Given the description of an element on the screen output the (x, y) to click on. 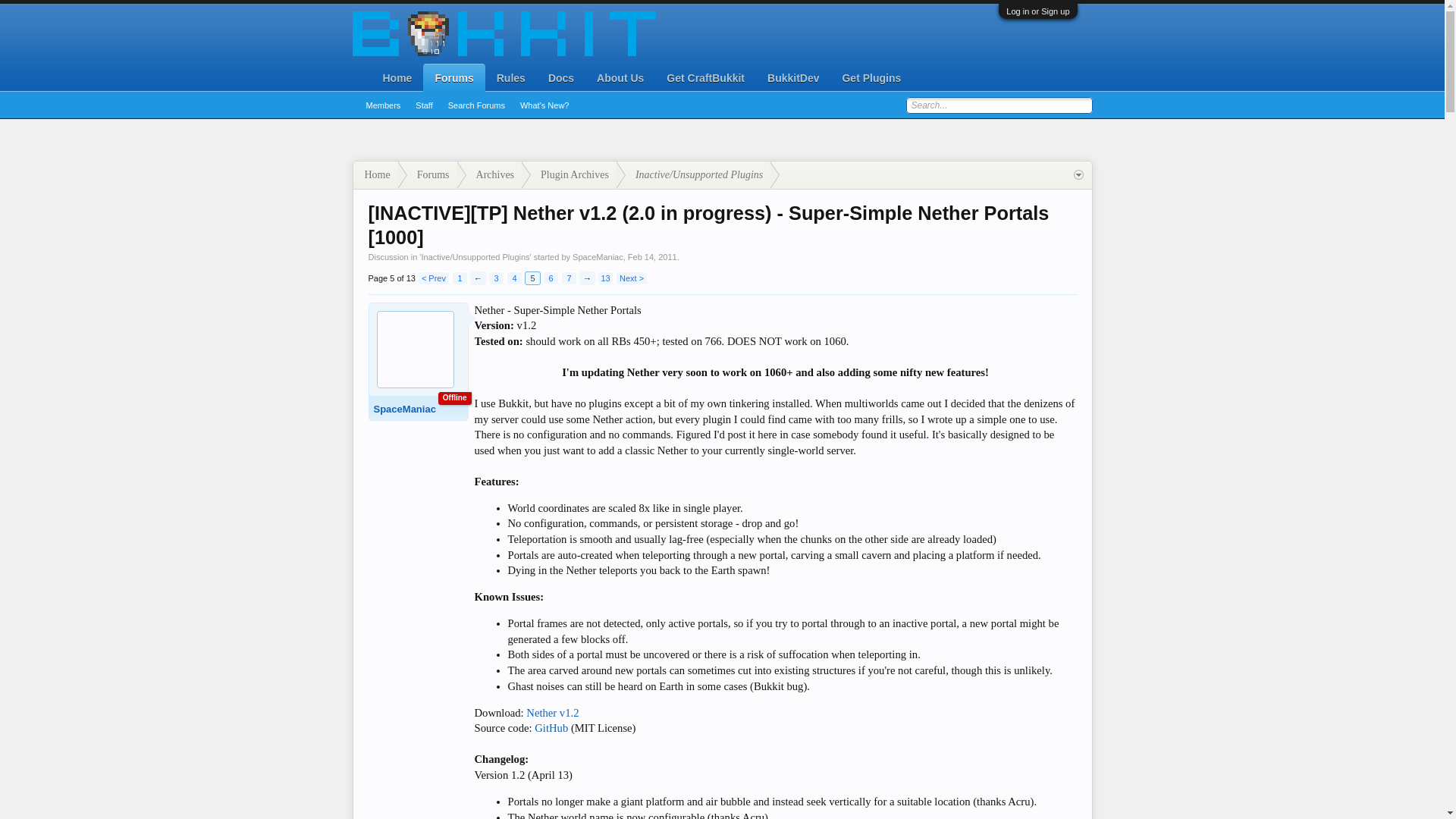
Forums (427, 175)
6 (551, 278)
Nether v1.2 (552, 712)
Log in or Sign up (1037, 10)
SpaceManiac (597, 256)
5 (532, 278)
Feb 14, 2011 (652, 256)
4 (514, 278)
1 (459, 278)
Open quick navigation (1078, 174)
Feb 14, 2011 at 10:11 PM (531, 278)
GitHub (652, 256)
Home (551, 727)
Archives (375, 175)
